Given the description of an element on the screen output the (x, y) to click on. 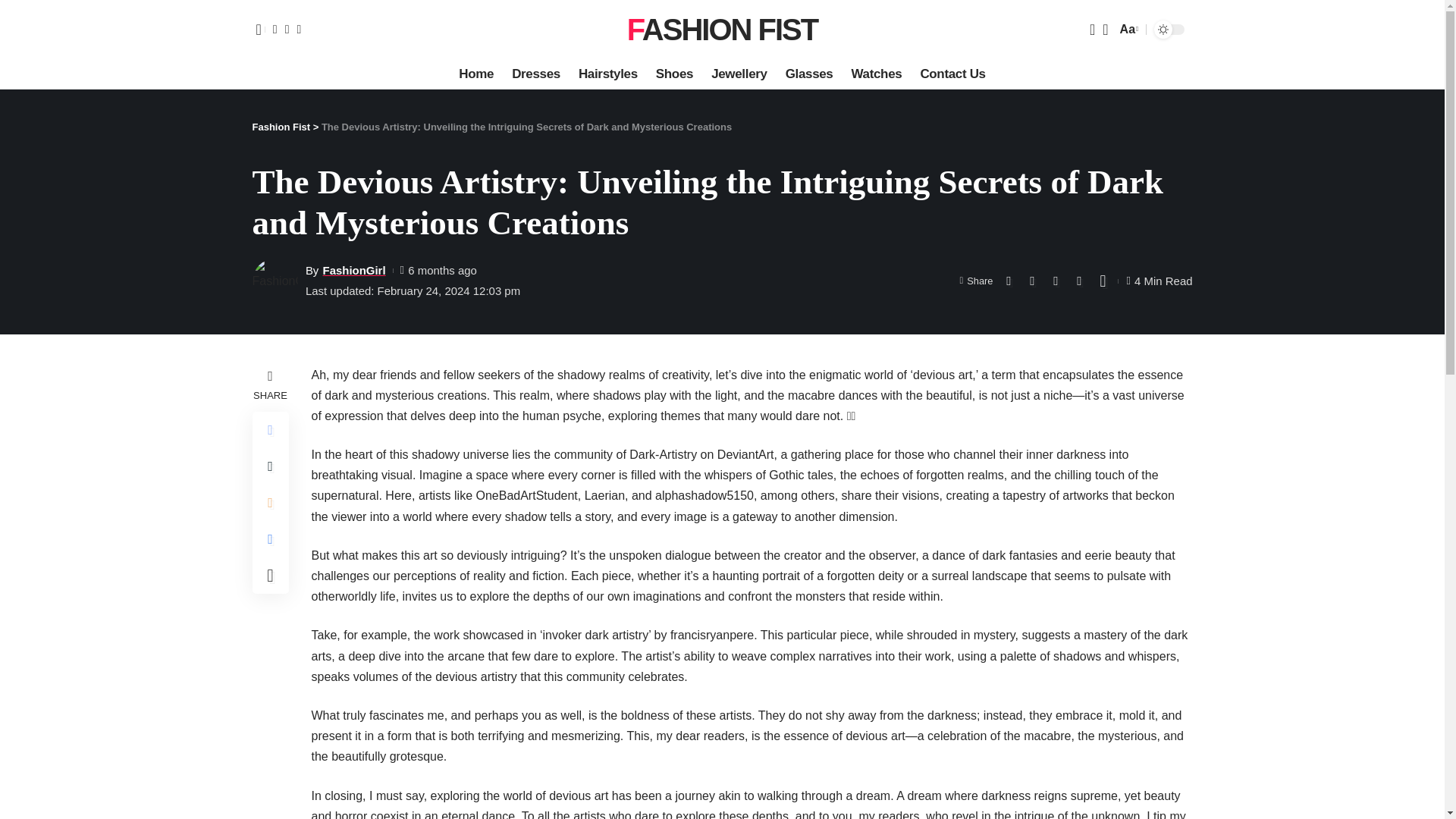
FASHION FIST (722, 29)
Contact Us (952, 73)
Fashion Fist (722, 29)
Dresses (535, 73)
Go to Fashion Fist. (280, 126)
Glasses (809, 73)
Watches (1127, 28)
Shoes (876, 73)
Jewellery (673, 73)
